Given the description of an element on the screen output the (x, y) to click on. 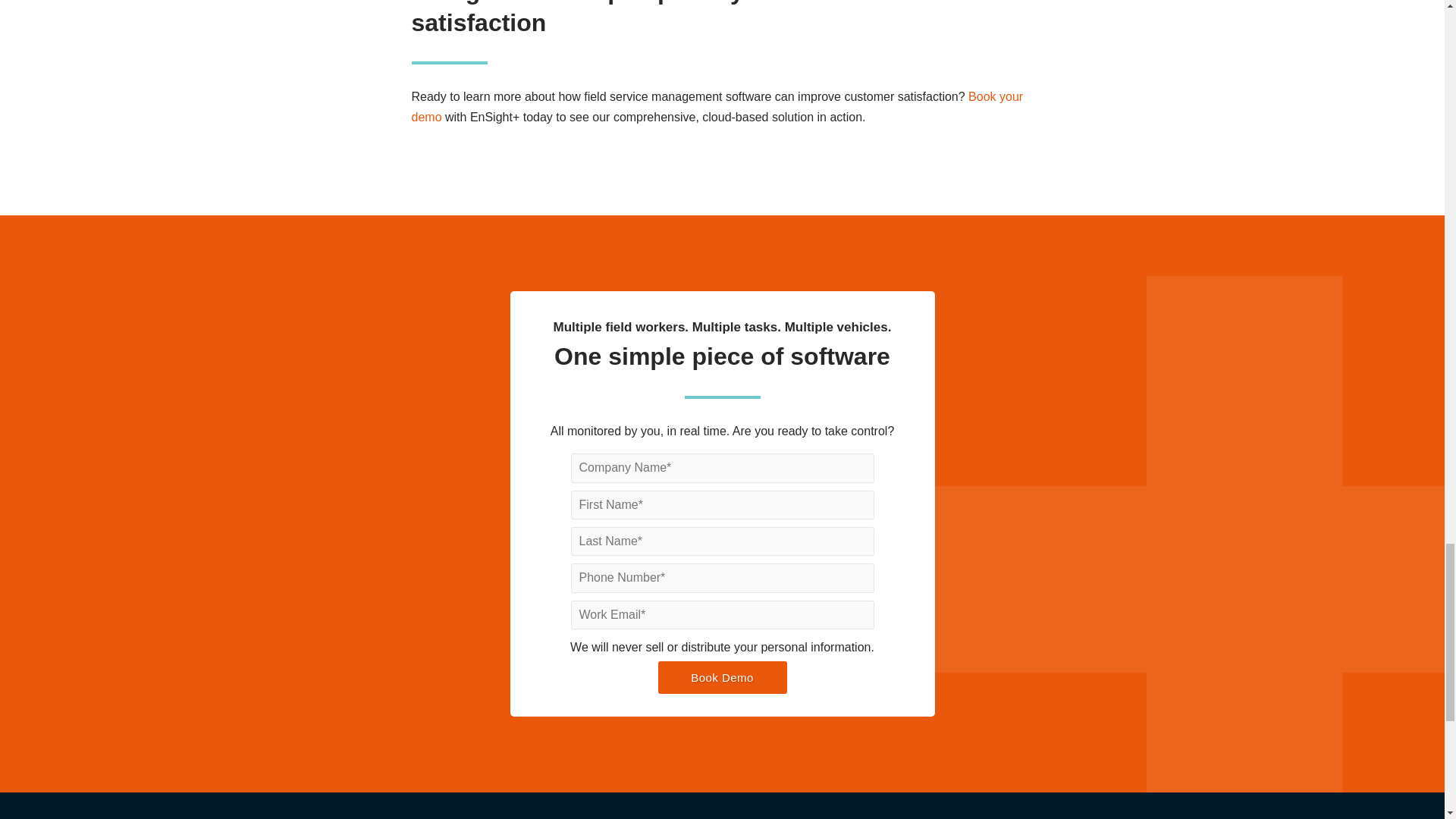
Book Demo (722, 676)
